Given the description of an element on the screen output the (x, y) to click on. 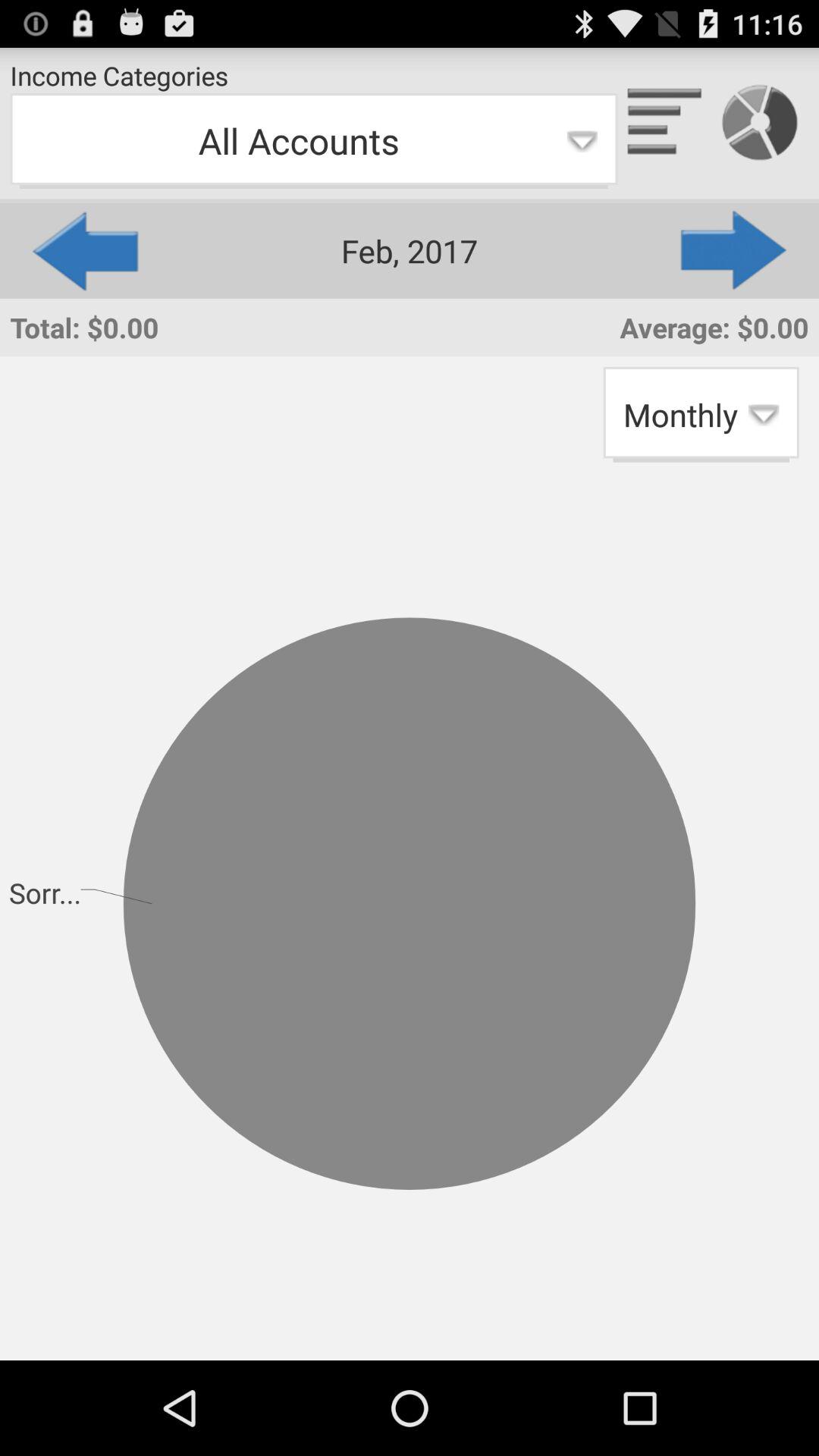
select next month (735, 250)
